Given the description of an element on the screen output the (x, y) to click on. 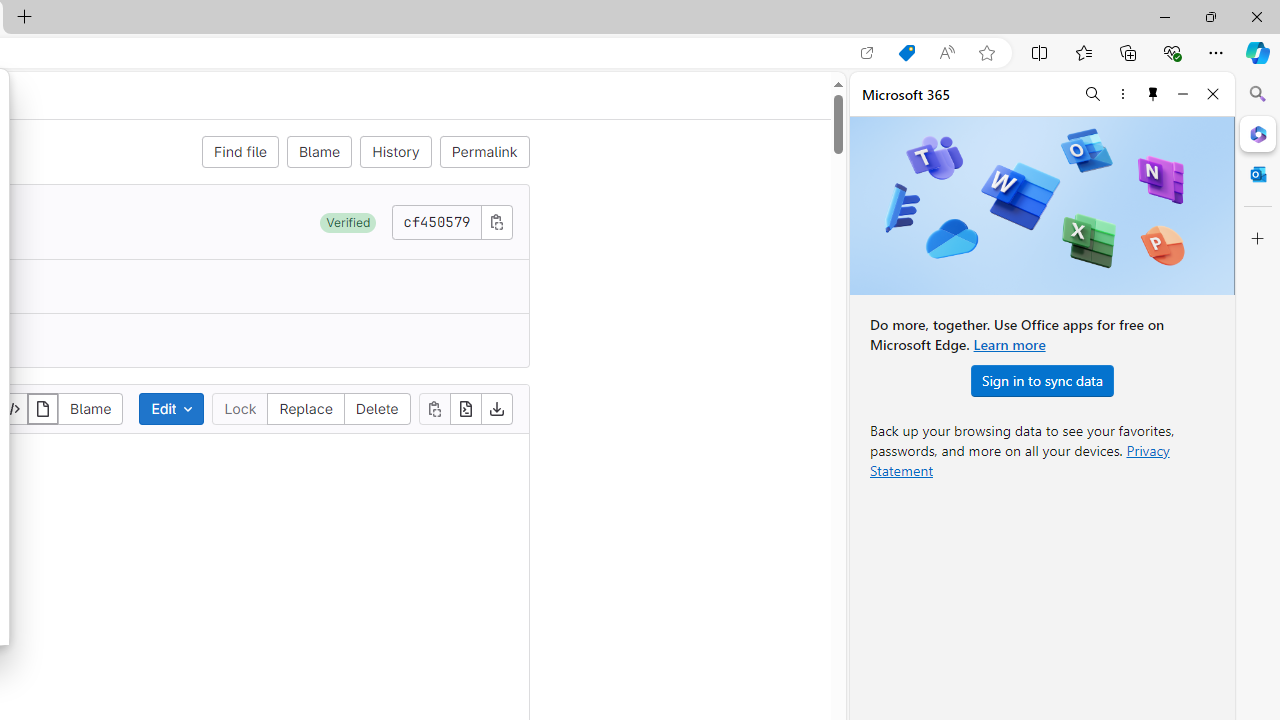
Edit (171, 408)
Download (496, 408)
History (395, 151)
Copy commit SHA (496, 221)
Collections (1128, 52)
Microsoft 365 (1258, 133)
Sign in to sync data (1042, 380)
